Given the description of an element on the screen output the (x, y) to click on. 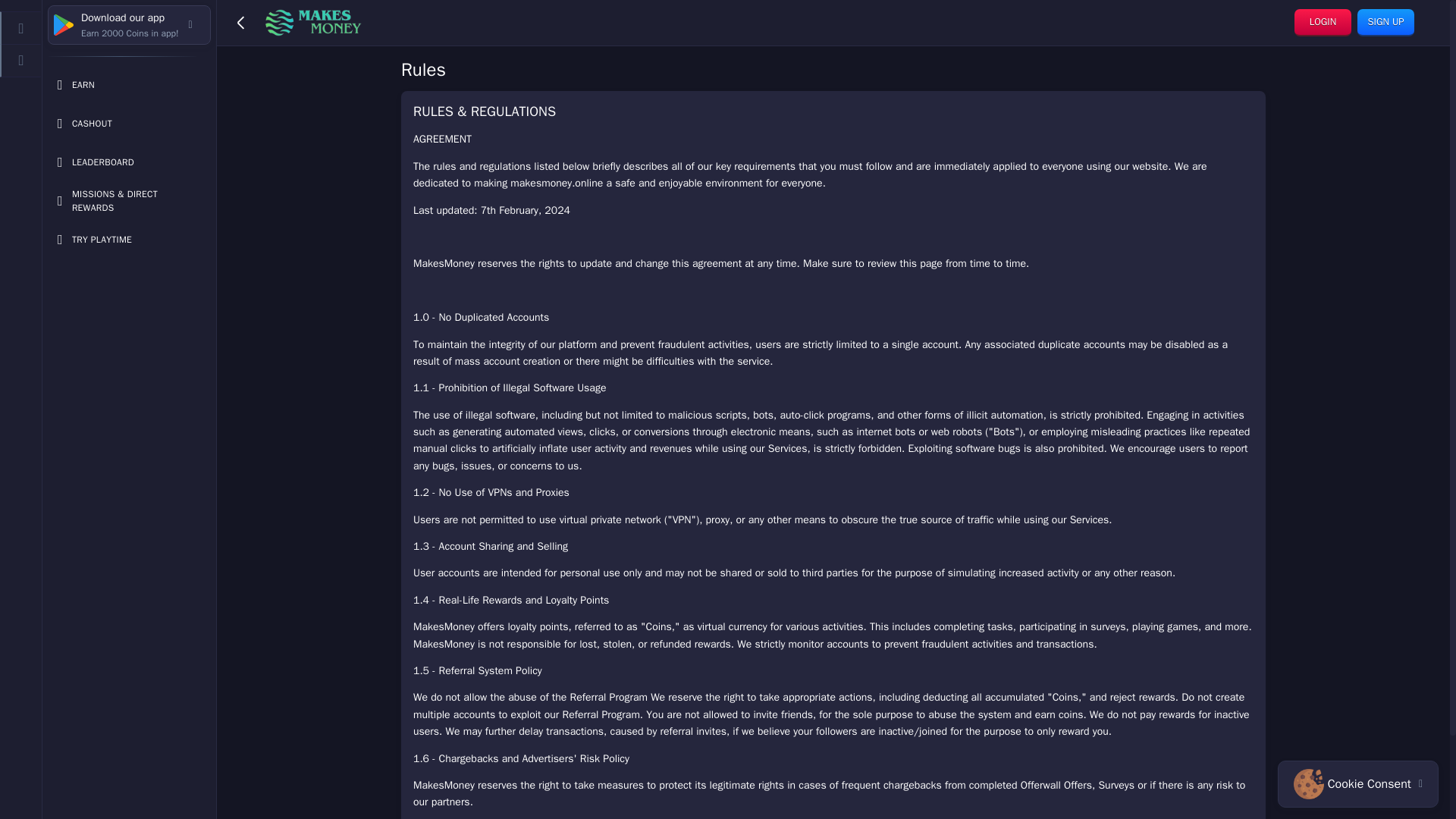
SIGN UP (1384, 22)
LOGIN (1322, 22)
CASHOUT (128, 123)
EARN (128, 84)
LEADERBOARD (129, 24)
TRY PLAYTIME (128, 162)
